Given the description of an element on the screen output the (x, y) to click on. 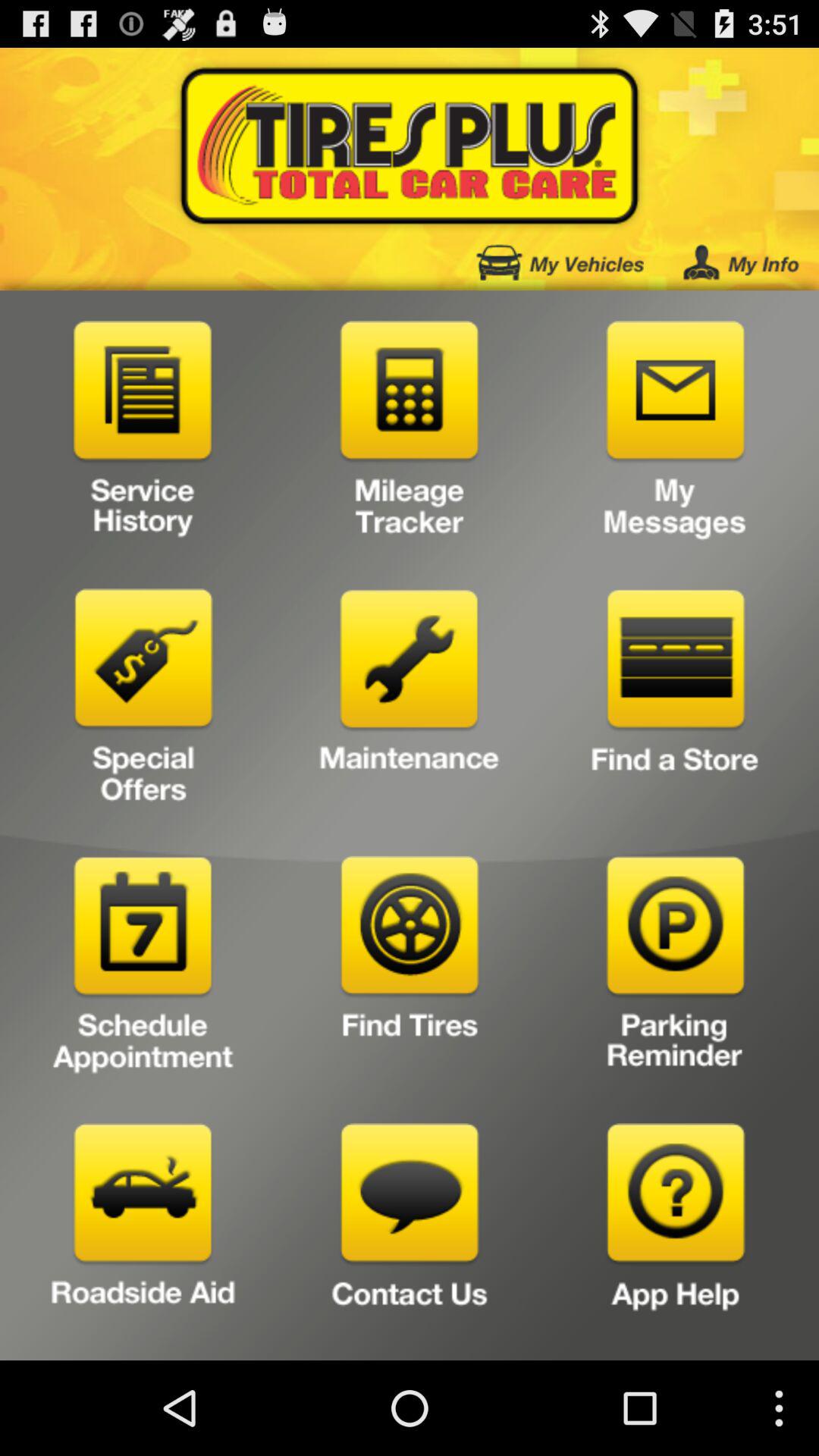
toggle contact screen (409, 1236)
